Given the description of an element on the screen output the (x, y) to click on. 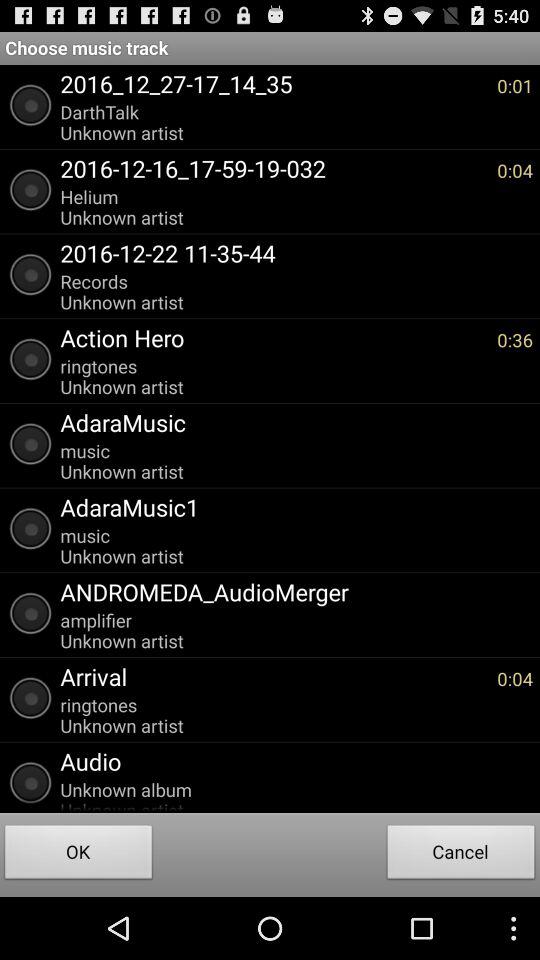
scroll to audio app (291, 761)
